Given the description of an element on the screen output the (x, y) to click on. 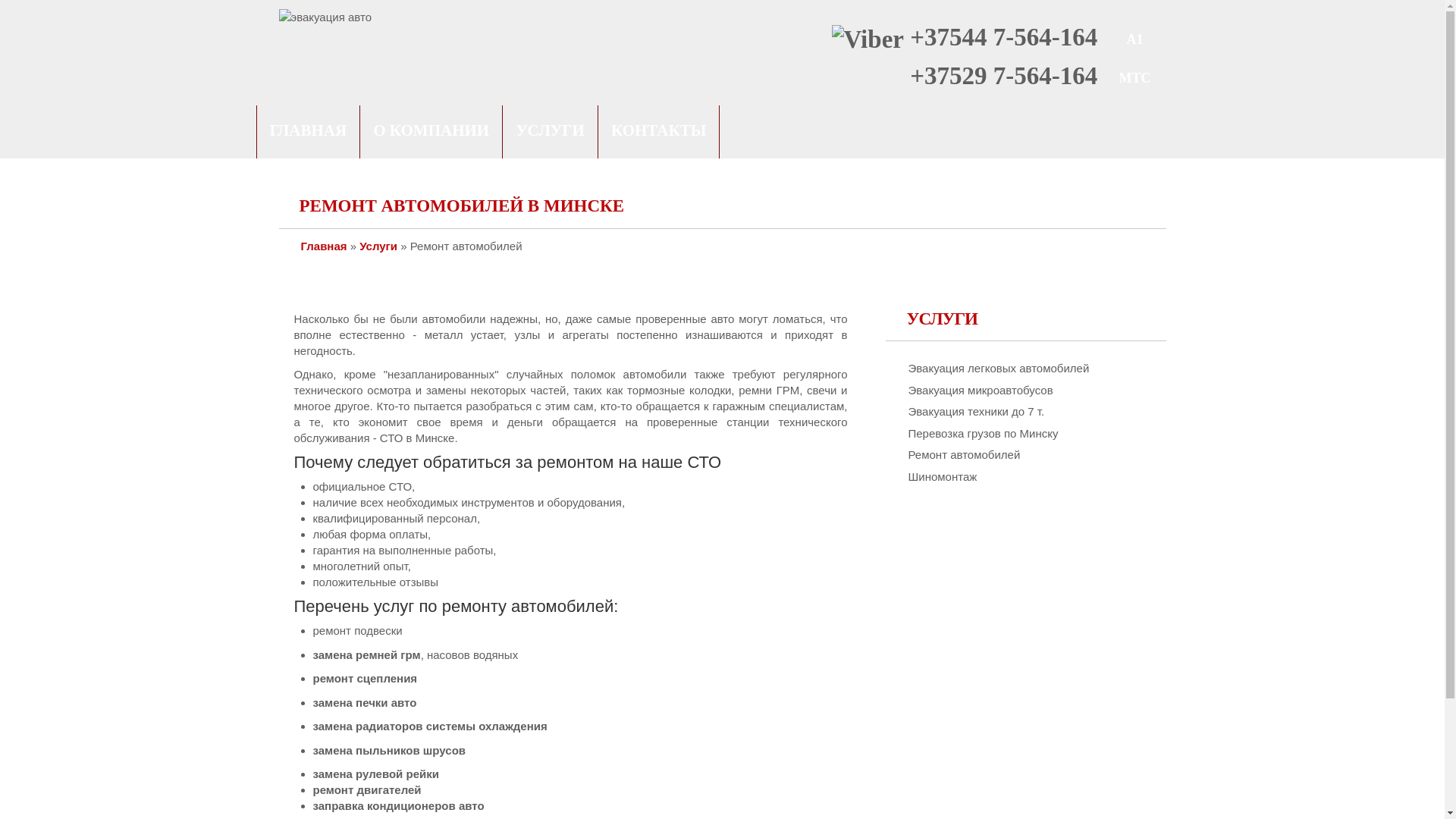
+37544 7-564-164 Element type: text (1003, 36)
+37529 7-564-164 Element type: text (1003, 75)
